Given the description of an element on the screen output the (x, y) to click on. 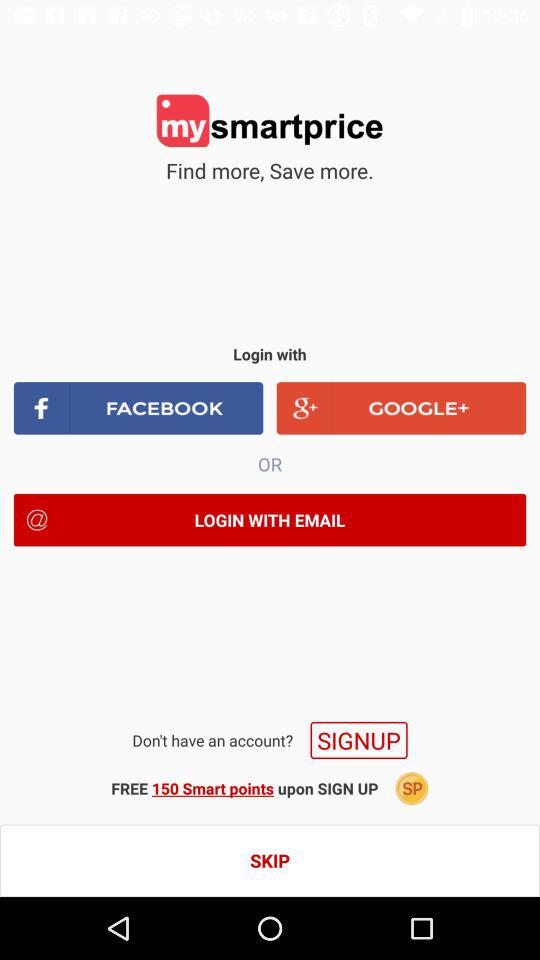
click the signup (358, 739)
